Given the description of an element on the screen output the (x, y) to click on. 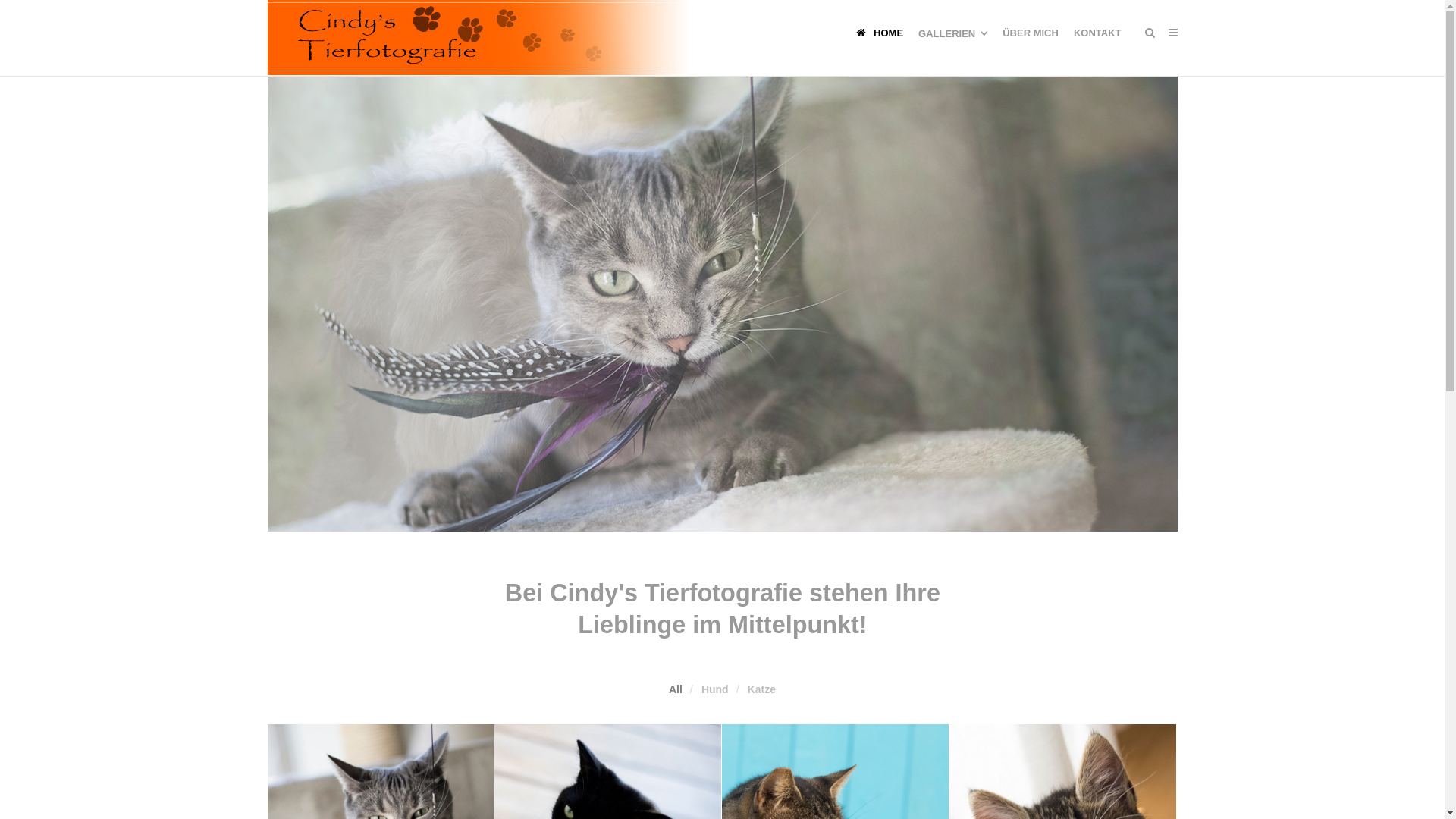
All Element type: text (675, 689)
Katze Element type: text (761, 689)
Hund Element type: text (714, 689)
